Given the description of an element on the screen output the (x, y) to click on. 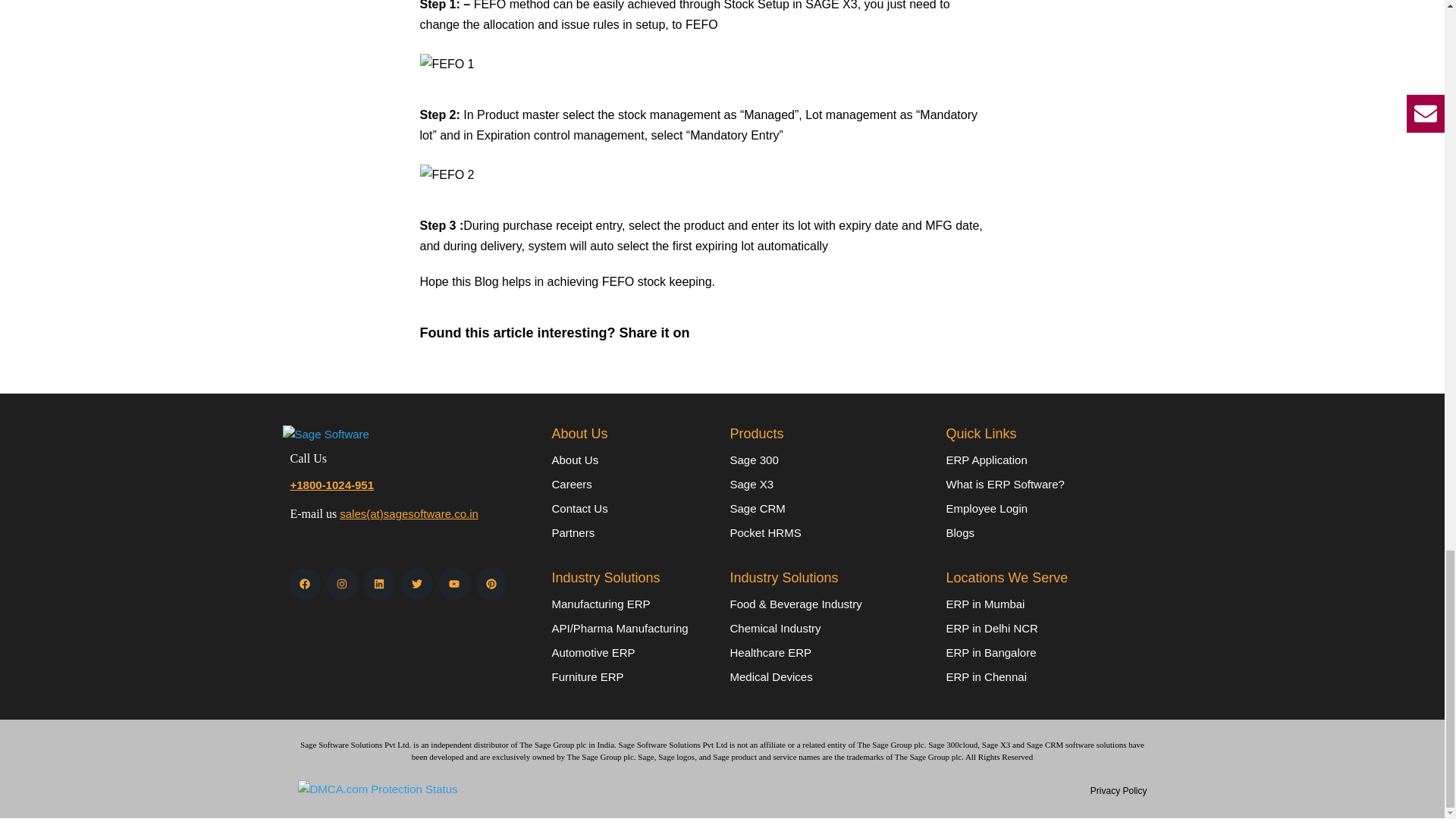
DMCA.com Protection Status (377, 788)
